Given the description of an element on the screen output the (x, y) to click on. 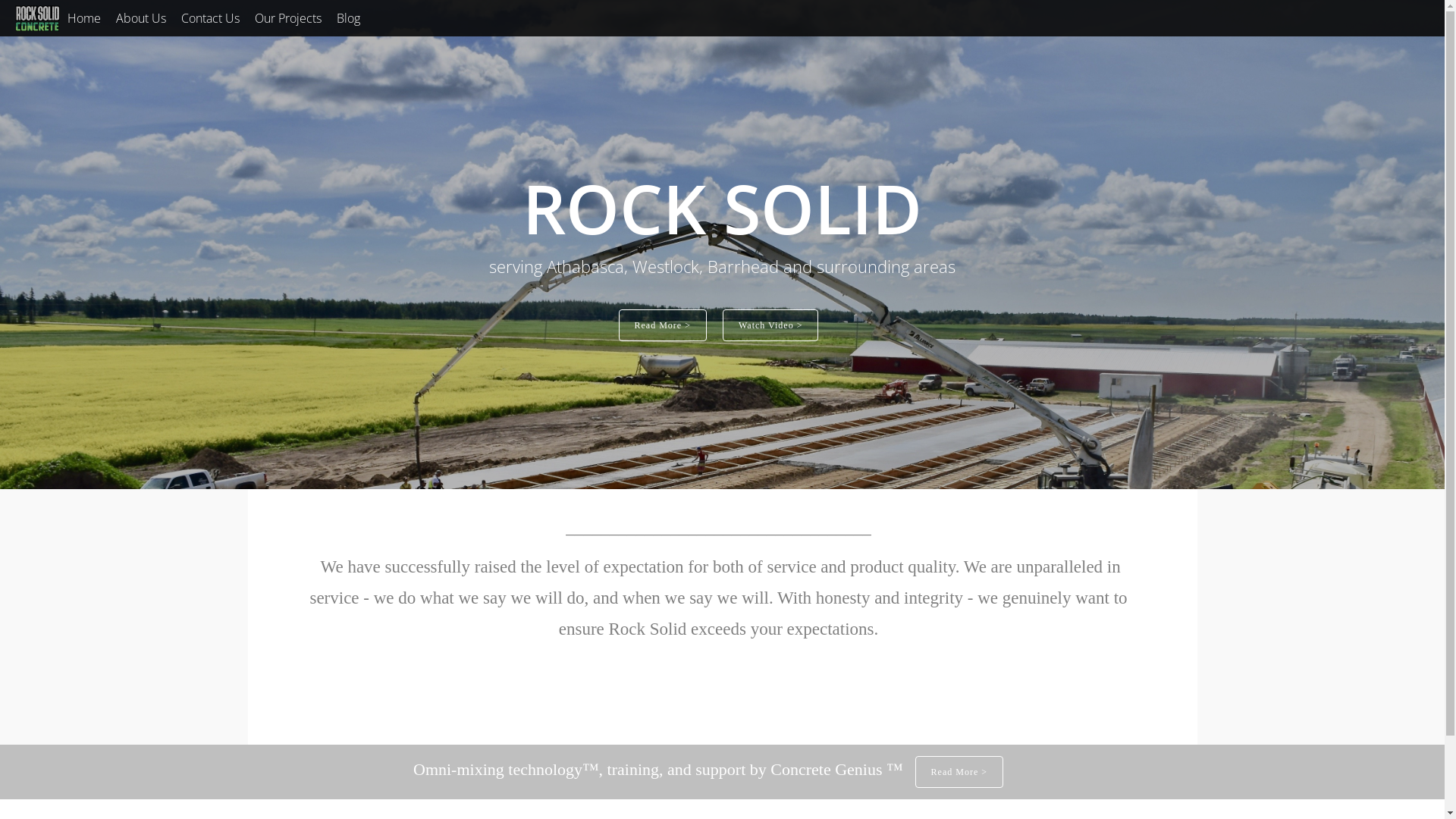
Read More > Element type: text (662, 325)
Contact Us Element type: text (210, 18)
Our Projects Element type: text (288, 18)
Home Element type: text (83, 18)
Watch Video > Element type: text (770, 325)
Blog Element type: text (348, 18)
About Us Element type: text (140, 18)
Read More > Element type: text (959, 771)
